Given the description of an element on the screen output the (x, y) to click on. 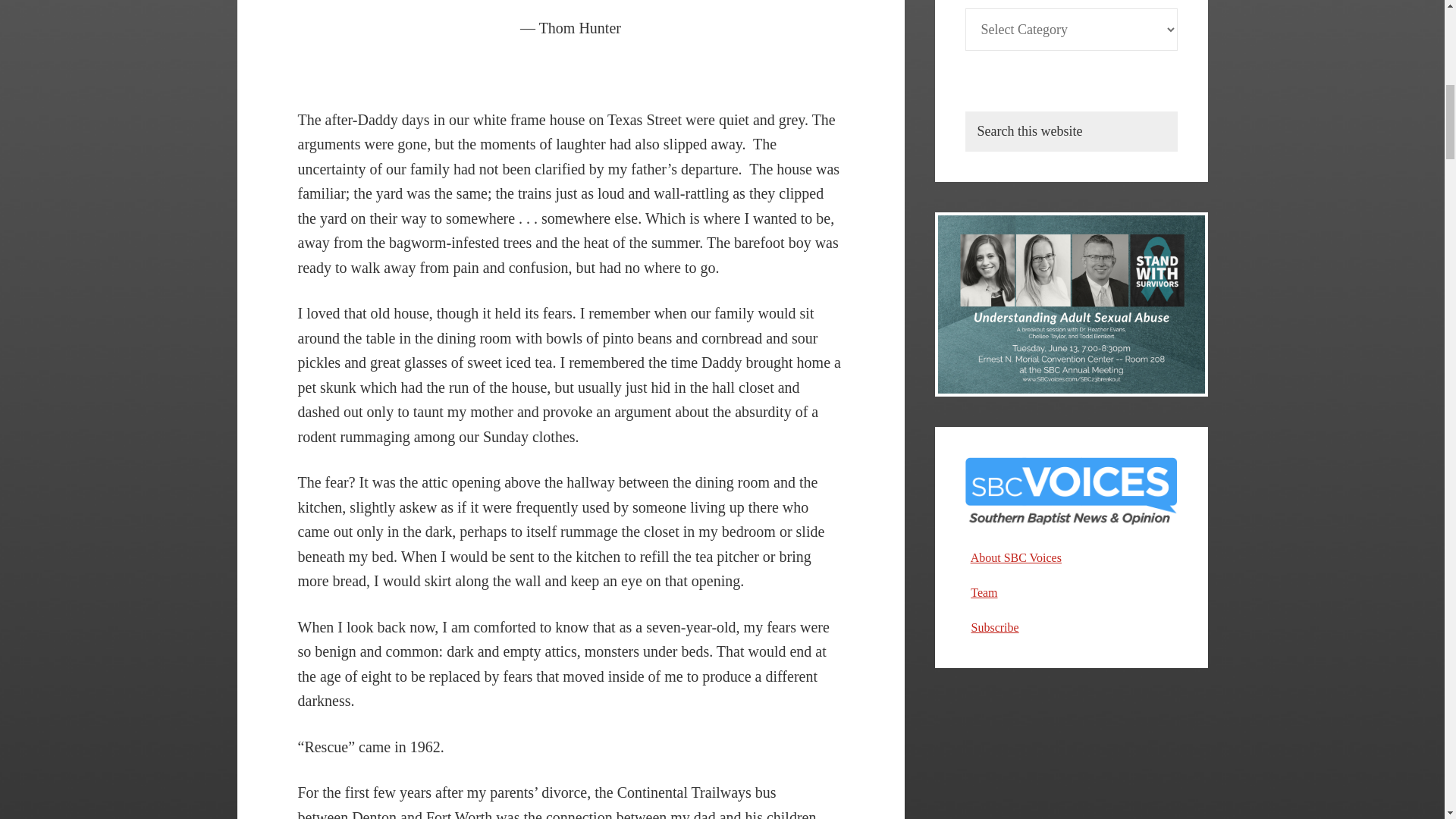
Subscribe (994, 626)
Team (984, 592)
About SBC Voices (1016, 557)
